Given the description of an element on the screen output the (x, y) to click on. 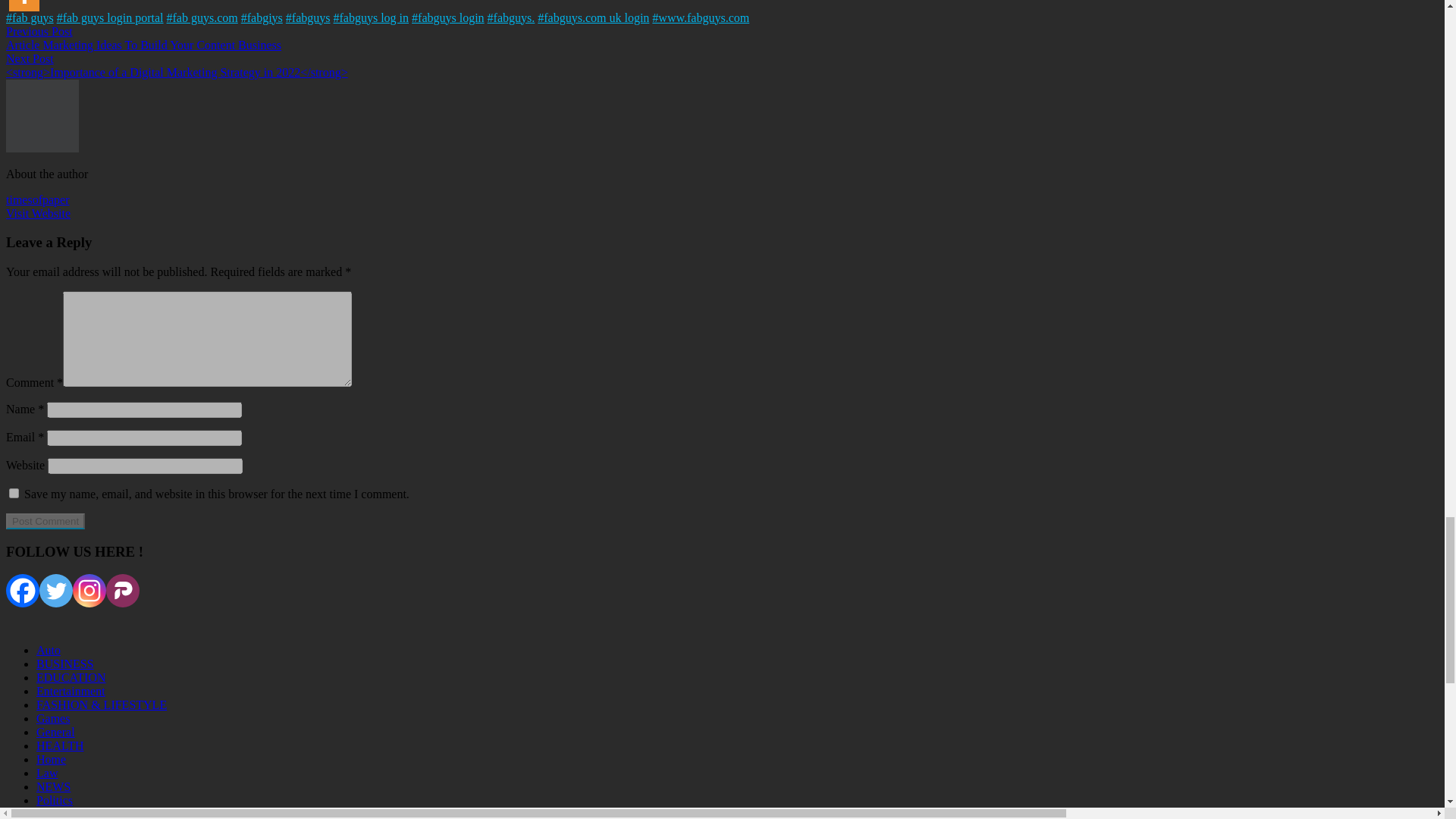
Twitter (55, 590)
Instagram (89, 590)
Parler (122, 590)
Facebook (22, 590)
yes (13, 492)
Post Comment (44, 521)
More (23, 5)
